Given the description of an element on the screen output the (x, y) to click on. 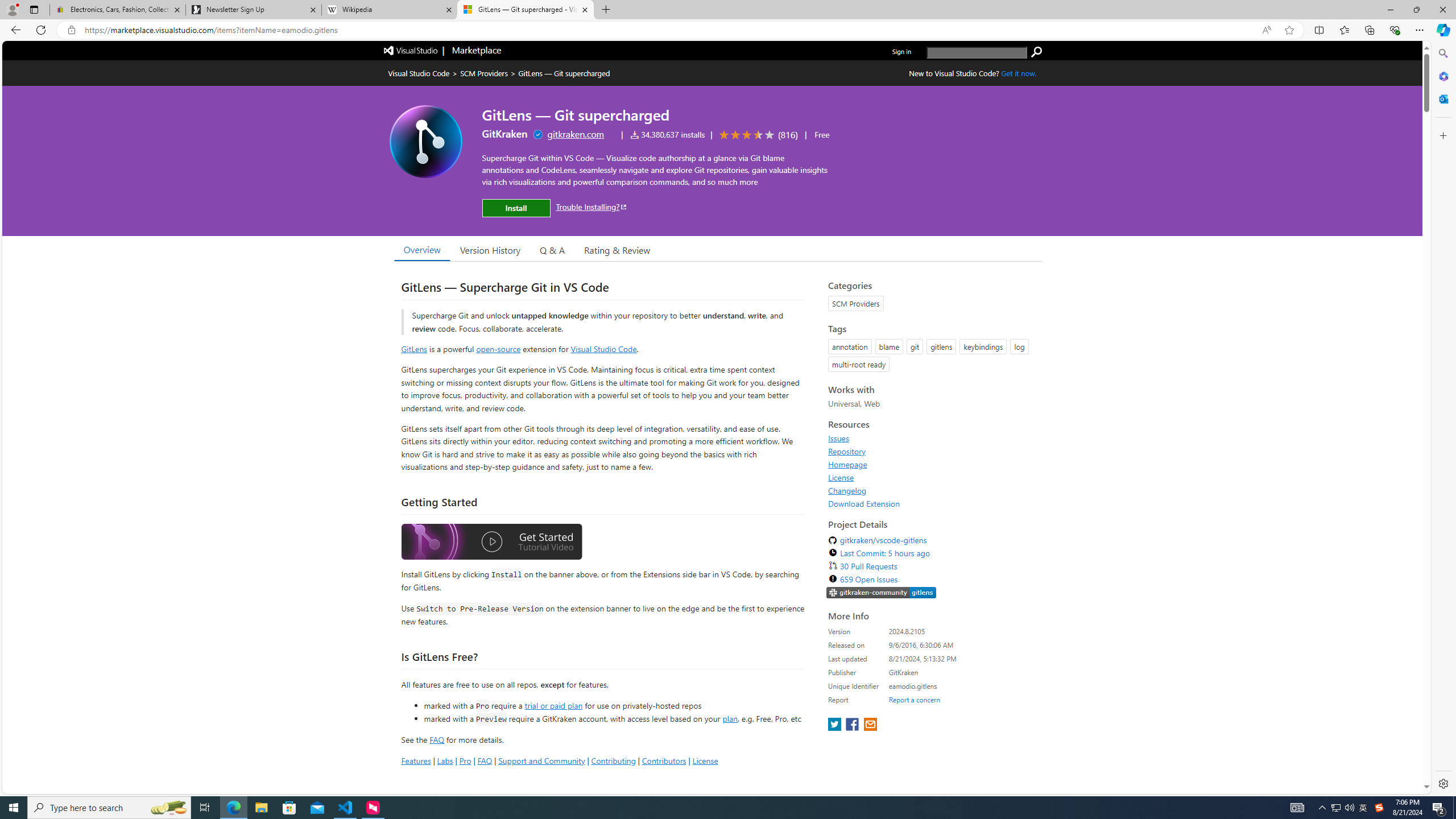
SCM Providers (484, 72)
Watch the GitLens Getting Started video (491, 542)
https://slack.gitkraken.com// (881, 592)
https://slack.gitkraken.com// (881, 593)
Changelog (931, 490)
Homepage (931, 464)
